Given the description of an element on the screen output the (x, y) to click on. 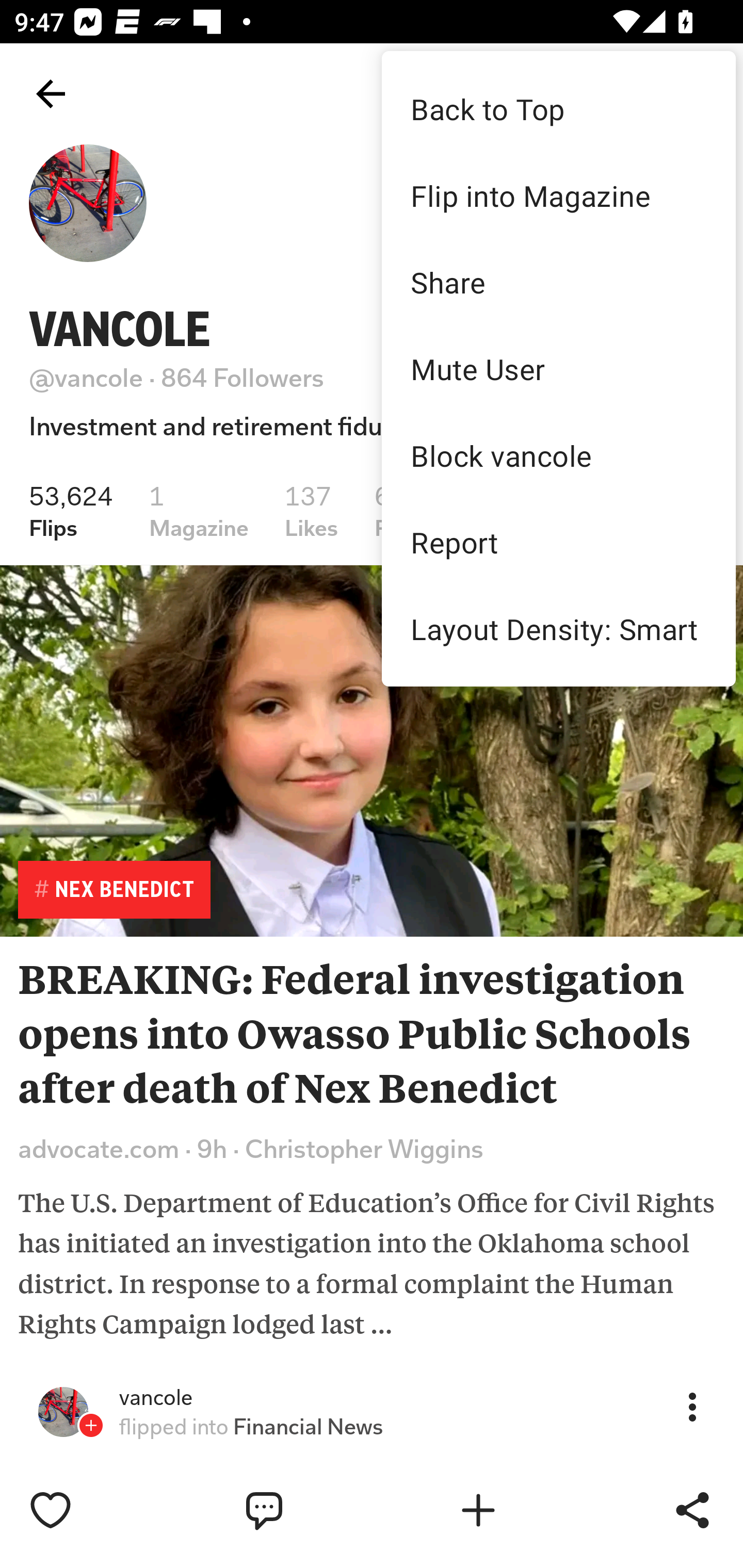
Back to Top (558, 108)
Flip into Magazine (558, 195)
Share (558, 282)
Mute User (558, 369)
Block vancole (558, 455)
Report (558, 541)
Layout Density: Smart (558, 628)
